Given the description of an element on the screen output the (x, y) to click on. 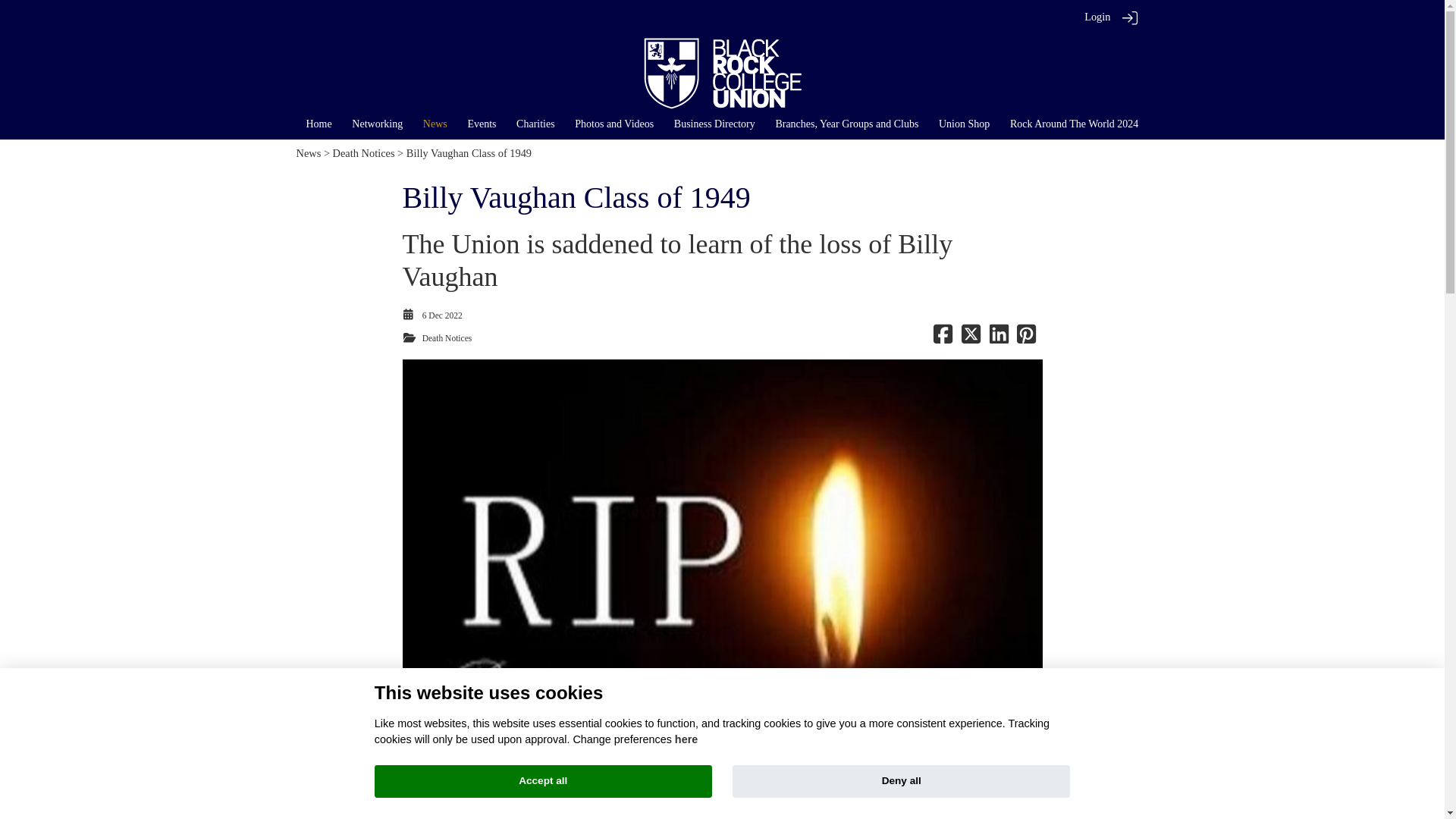
Share on LinkedIn (997, 337)
Death Notices (363, 152)
Share on Twitter (969, 337)
Login (1096, 16)
Death Notices (446, 338)
Rock Around The World 2024 (1074, 123)
Home (318, 123)
News (434, 123)
Share on Facebook (942, 337)
Business Directory (714, 123)
Share on Pinterest (1025, 337)
News (307, 152)
Photos and Videos (614, 123)
Events (481, 123)
Union Shop (964, 123)
